Given the description of an element on the screen output the (x, y) to click on. 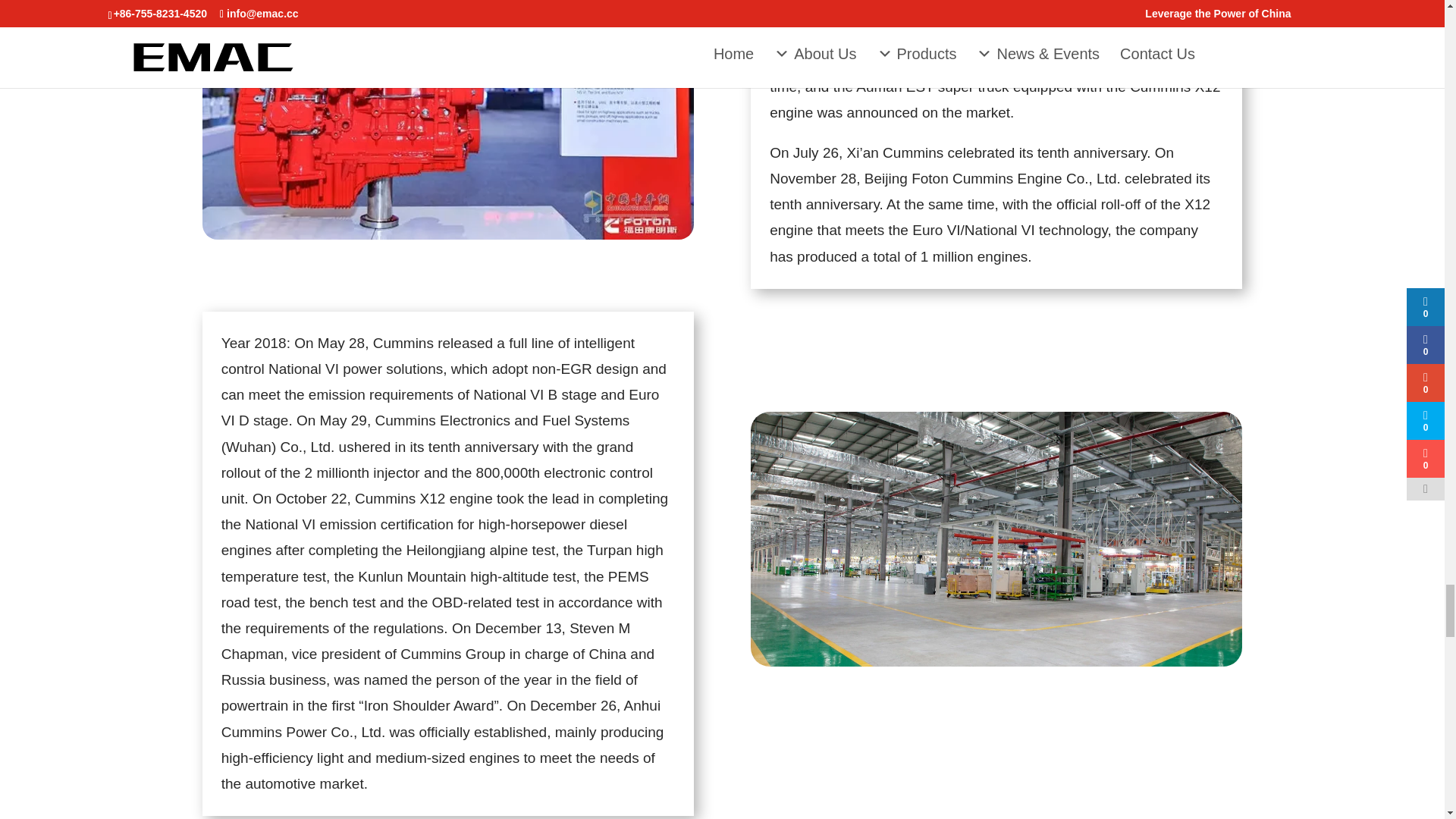
GUANGXI CUMMINS FACTORY 1220x632 (996, 538)
Cummins BFCEC ENGINE CARTONS 700x467 (448, 119)
